Given the description of an element on the screen output the (x, y) to click on. 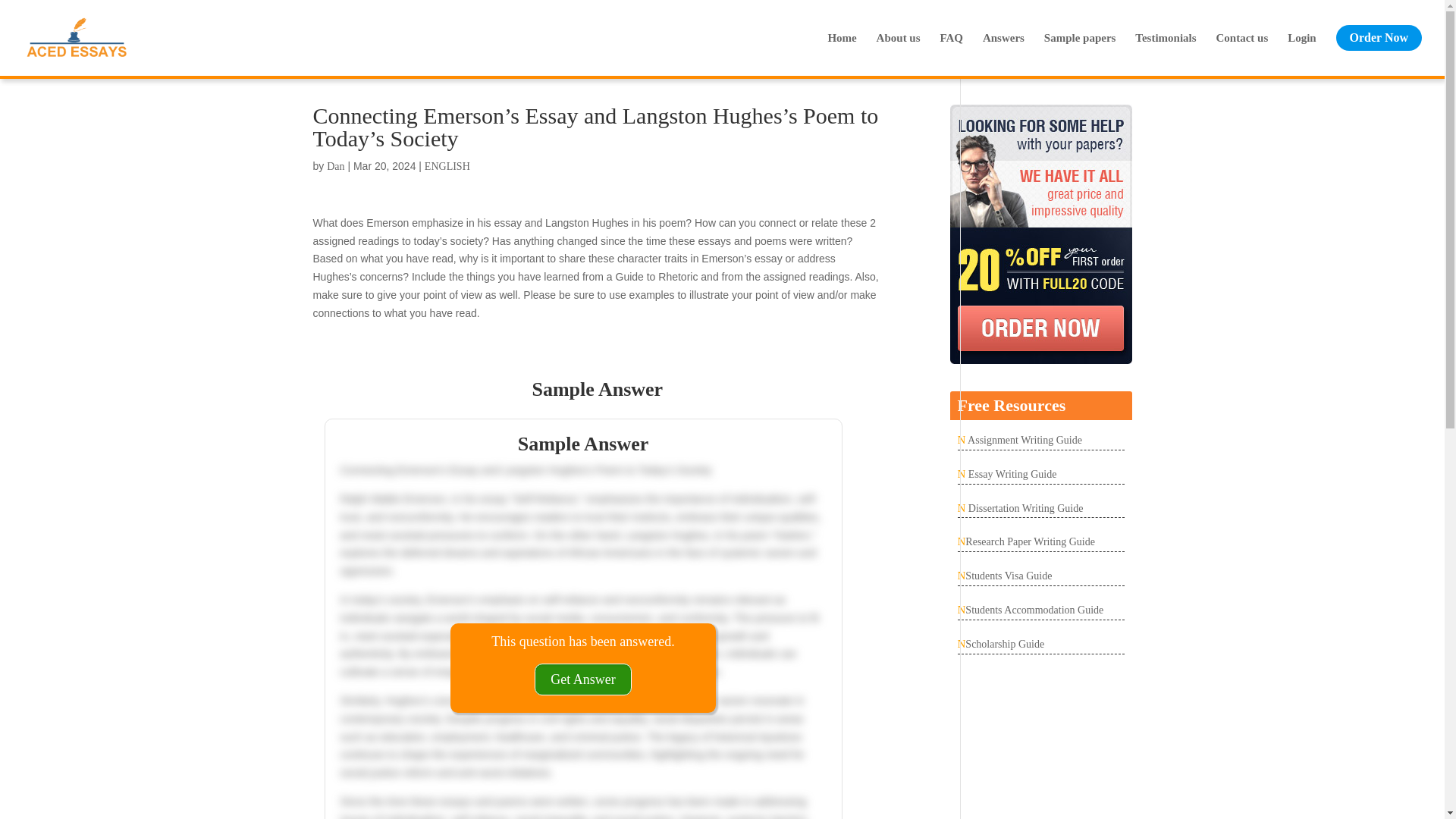
Students Visa Guide (1008, 575)
Posts by Dan (334, 165)
Testimonials (1165, 49)
Essay Writing Guide (1011, 473)
Research Paper Writing Guide (1029, 541)
Contact us (1241, 49)
ENGLISH (447, 165)
Assignment Writing Guide (1023, 439)
Dissertation Writing Guide (1024, 508)
Order Now (1379, 50)
Order Now (1379, 37)
Get Answer (582, 679)
Scholarship Guide (1004, 644)
Dan (334, 165)
Students Accommodation Guide (1034, 609)
